Given the description of an element on the screen output the (x, y) to click on. 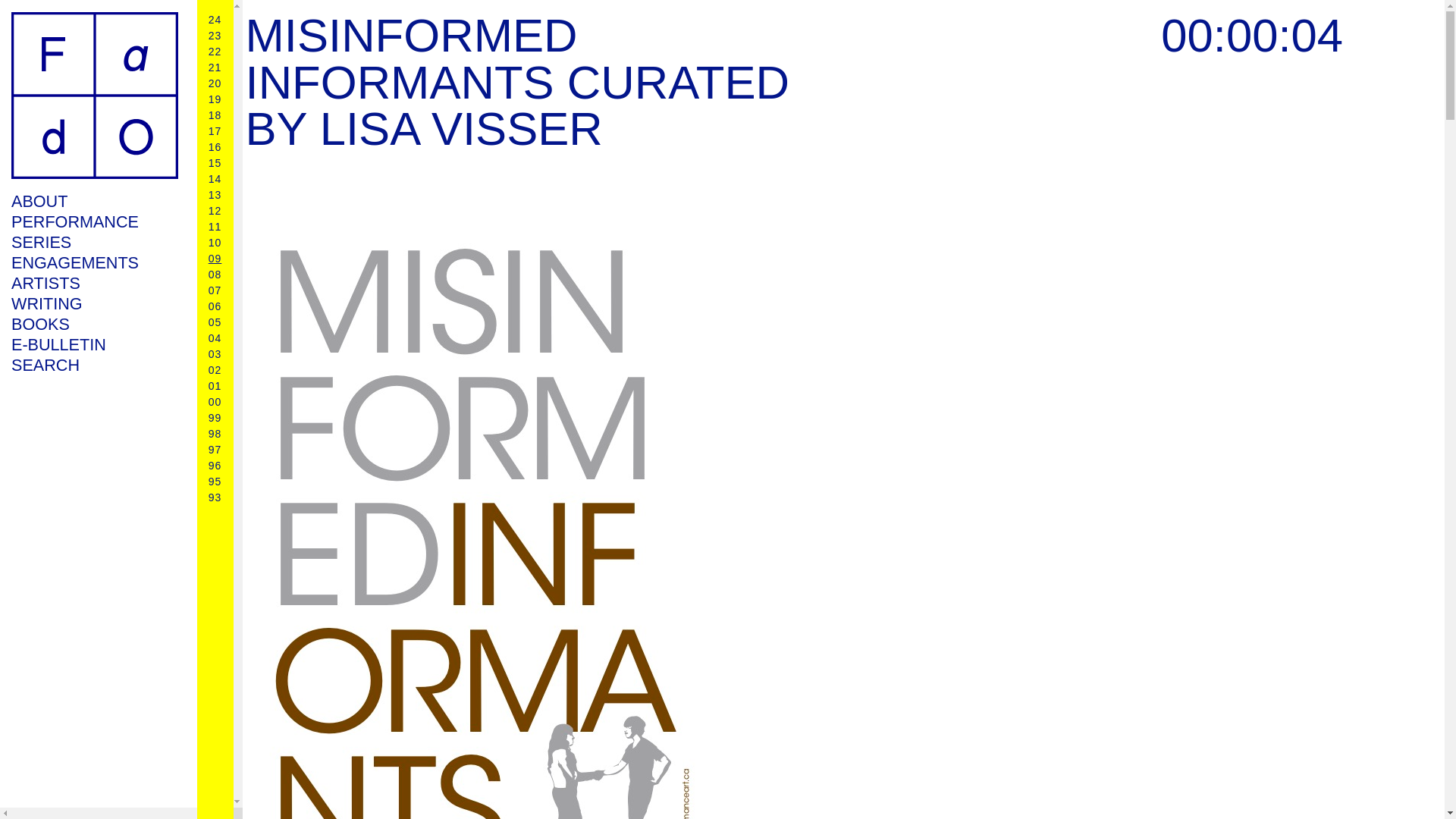
BOOKS (94, 323)
ABOUT (94, 200)
23 (215, 35)
21 (215, 67)
07 (215, 290)
SERIES (94, 241)
16 (215, 146)
12 (215, 210)
06 (215, 306)
18 (215, 114)
